Given the description of an element on the screen output the (x, y) to click on. 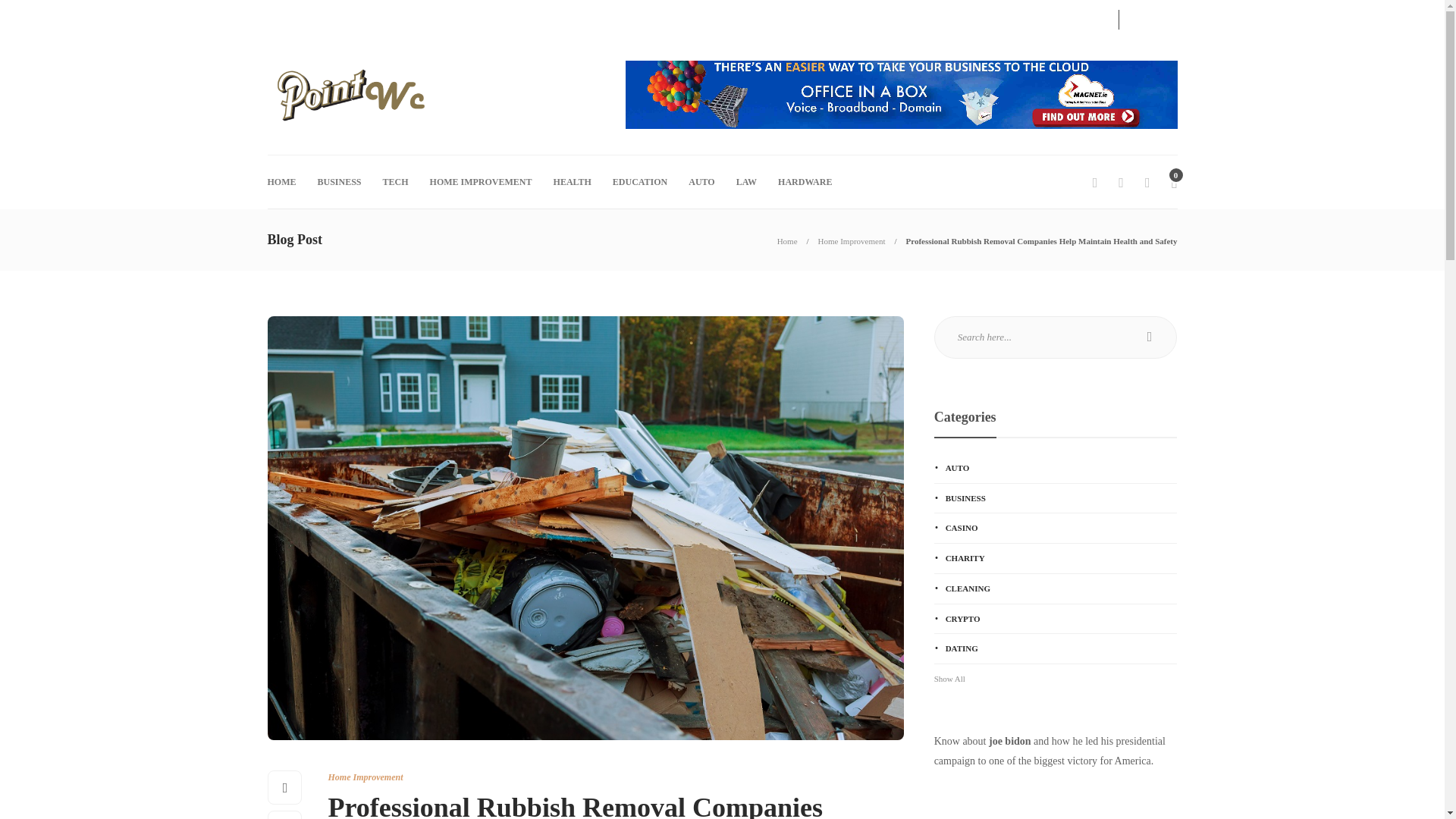
Home (787, 240)
HARDWARE (804, 181)
LOG IN (1077, 17)
Contact us (287, 17)
EDUCATION (639, 181)
Search text (1055, 337)
Home (787, 240)
HOME IMPROVEMENT (480, 181)
Home Improvement (851, 240)
